Given the description of an element on the screen output the (x, y) to click on. 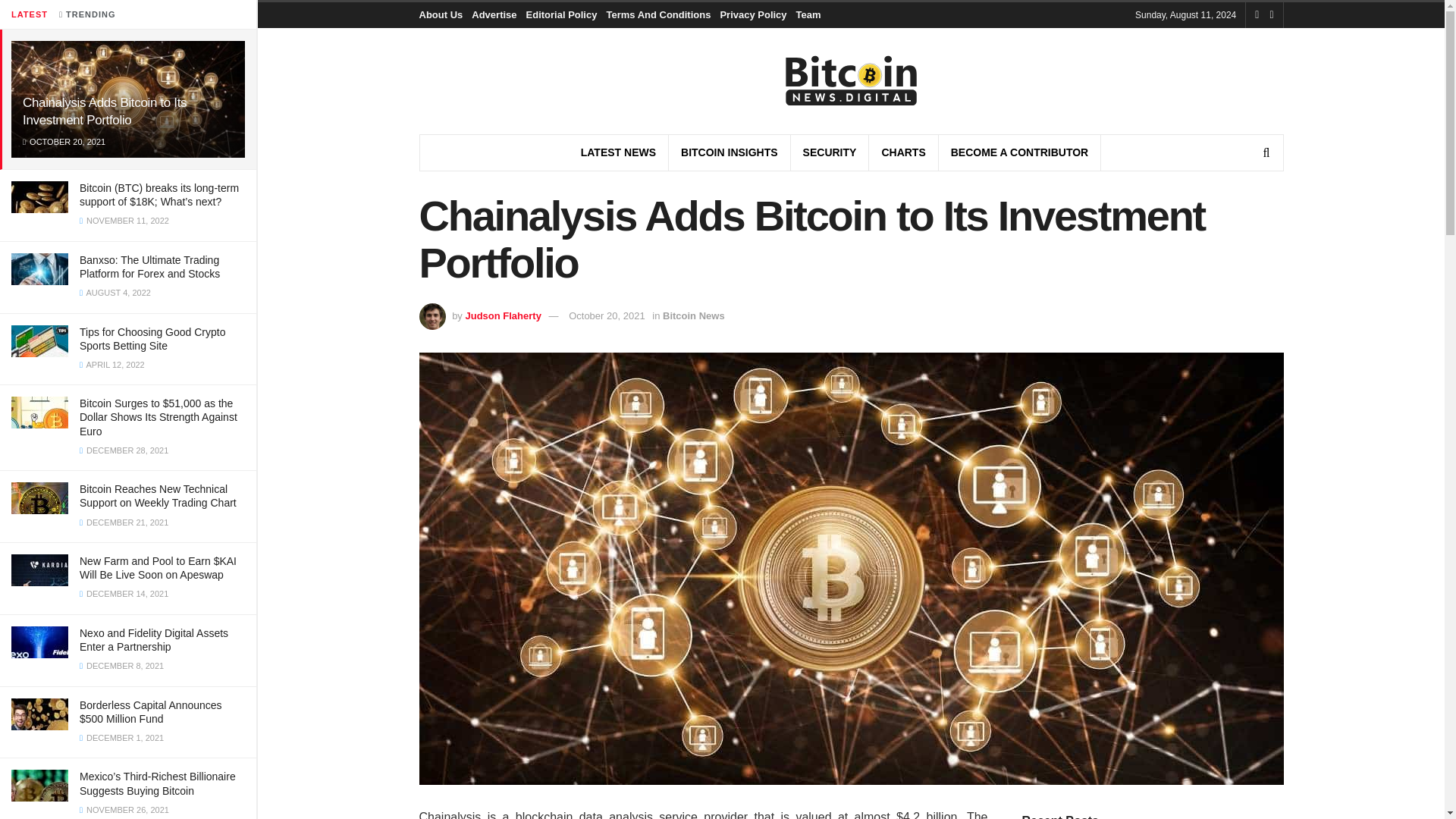
Privacy Policy (752, 14)
Terms And Conditions (657, 14)
Banxso: The Ultimate Trading Platform for Forex and Stocks (149, 266)
Nexo and Fidelity Digital Assets Enter a Partnership (154, 639)
SECURITY (830, 151)
CHARTS (902, 151)
BITCOIN INSIGHTS (729, 151)
Team (808, 14)
BECOME A CONTRIBUTOR (1018, 151)
Tips for Choosing Good Crypto Sports Betting Site (152, 338)
